Given the description of an element on the screen output the (x, y) to click on. 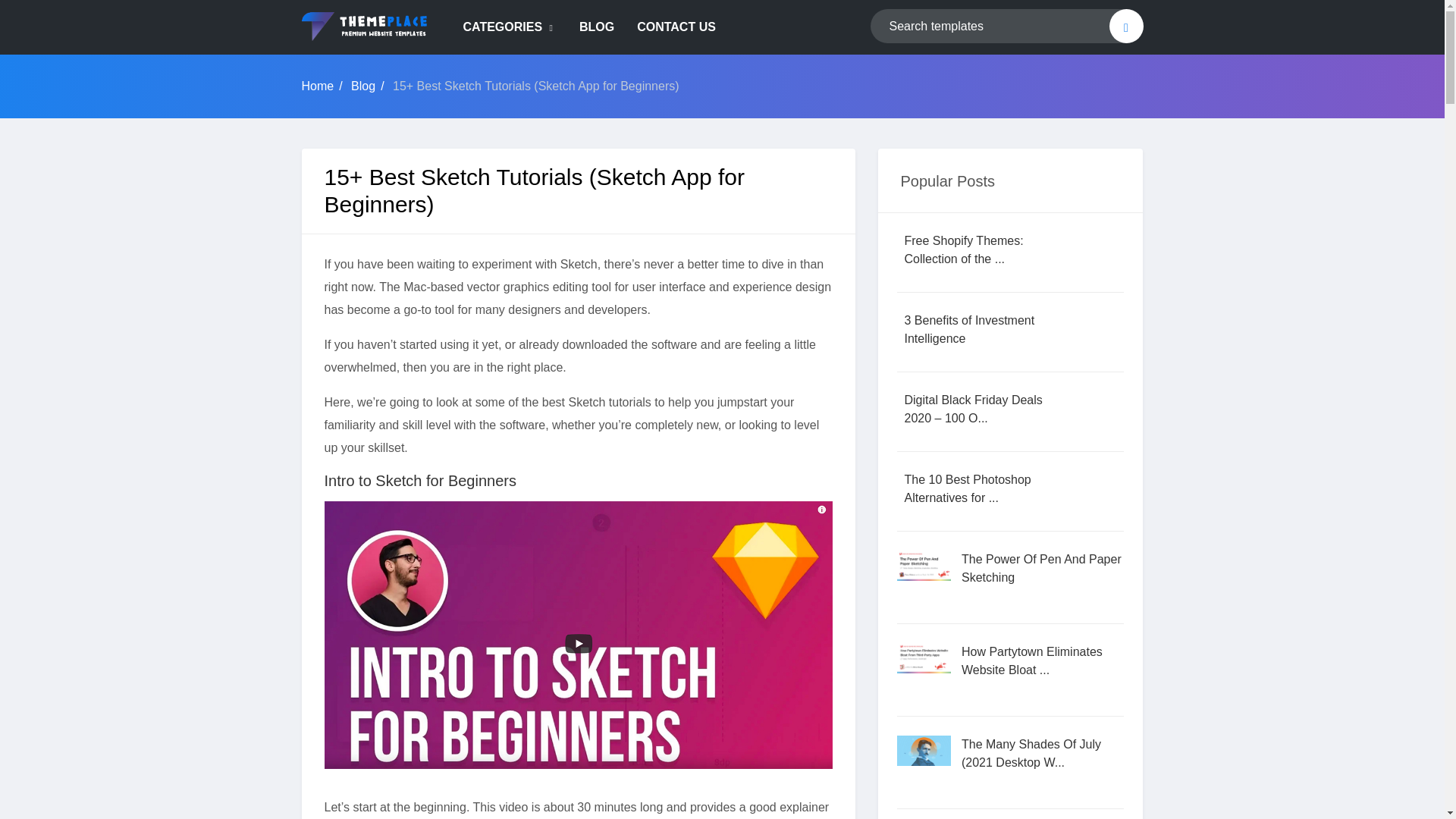
CATEGORIES (509, 26)
